Given the description of an element on the screen output the (x, y) to click on. 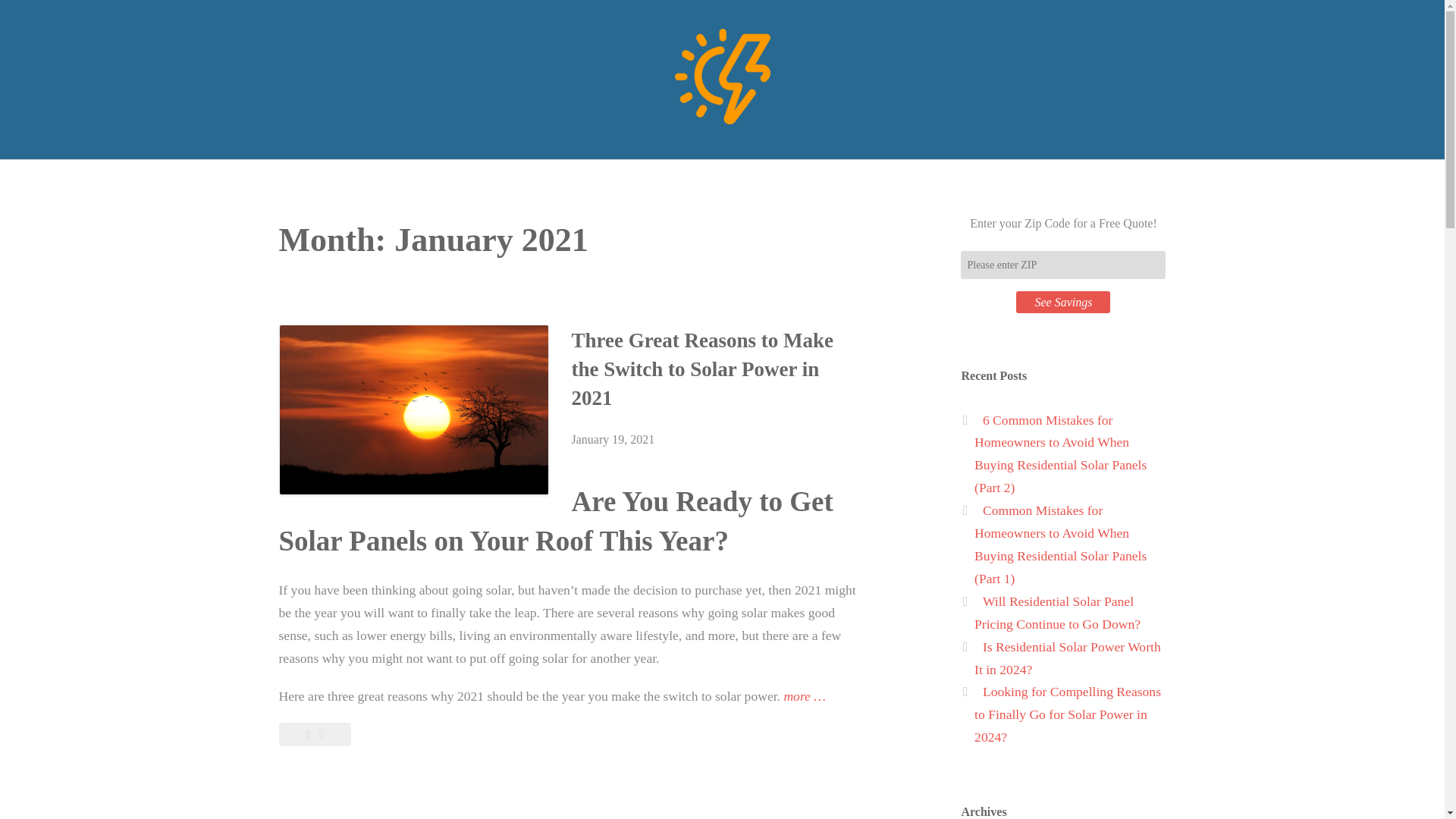
See Savings (1062, 301)
Will Residential Solar Panel Pricing Continue to Go Down? (1057, 612)
See Savings (1062, 301)
Is Residential Solar Power Worth It in 2024? (1067, 658)
